Given the description of an element on the screen output the (x, y) to click on. 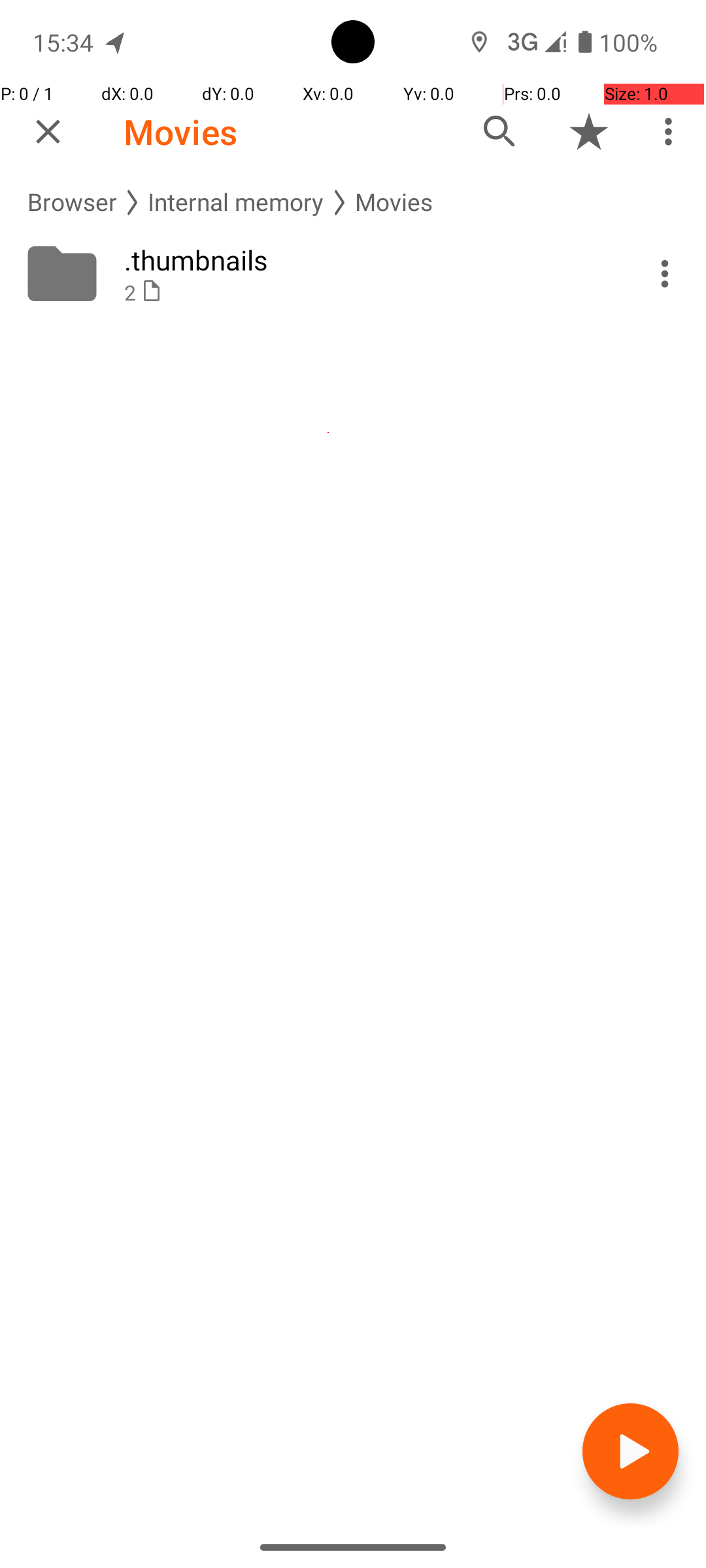
Movies Element type: android.widget.TextView (180, 131)
Play Element type: android.widget.ImageButton (630, 1451)
Browser Element type: android.widget.TextView (72, 202)
Internal memory Element type: android.widget.TextView (235, 202)
Folder: .thumbnails, 2 media files Element type: android.view.ViewGroup (353, 273)
.thumbnails Element type: android.widget.TextView (366, 259)
2 *§* Element type: android.widget.TextView (366, 292)
More Actions Element type: android.widget.ImageView (664, 273)
